Given the description of an element on the screen output the (x, y) to click on. 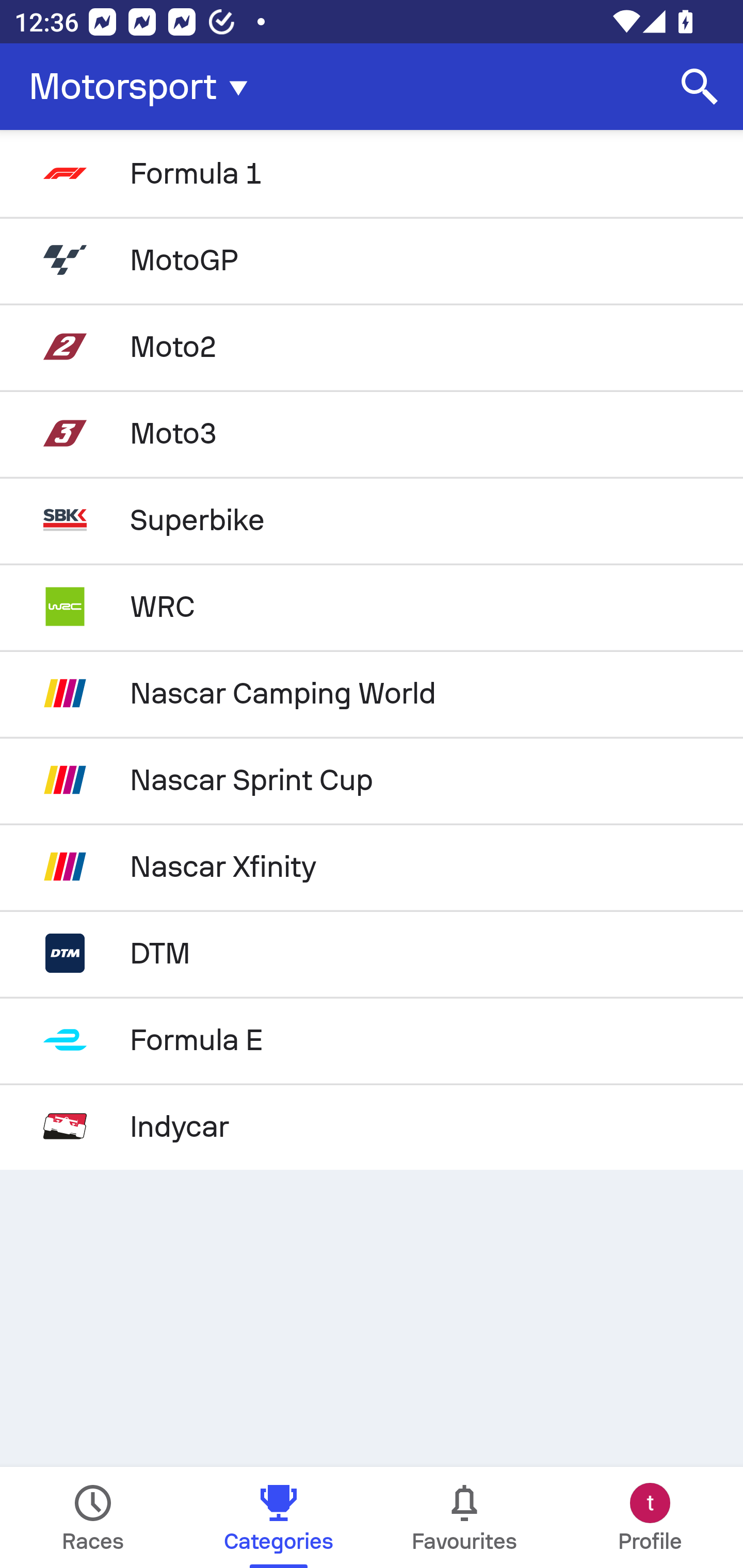
Motorsport (144, 86)
Search (699, 86)
Formula 1 (371, 173)
MotoGP (371, 259)
Moto2 (371, 346)
Moto3 (371, 433)
Superbike (371, 519)
WRC (371, 605)
Nascar Camping World (371, 692)
Nascar Sprint Cup (371, 779)
Nascar Xfinity (371, 866)
DTM (371, 953)
Formula E (371, 1040)
Indycar (371, 1126)
Races (92, 1517)
Favourites (464, 1517)
Profile (650, 1517)
